Given the description of an element on the screen output the (x, y) to click on. 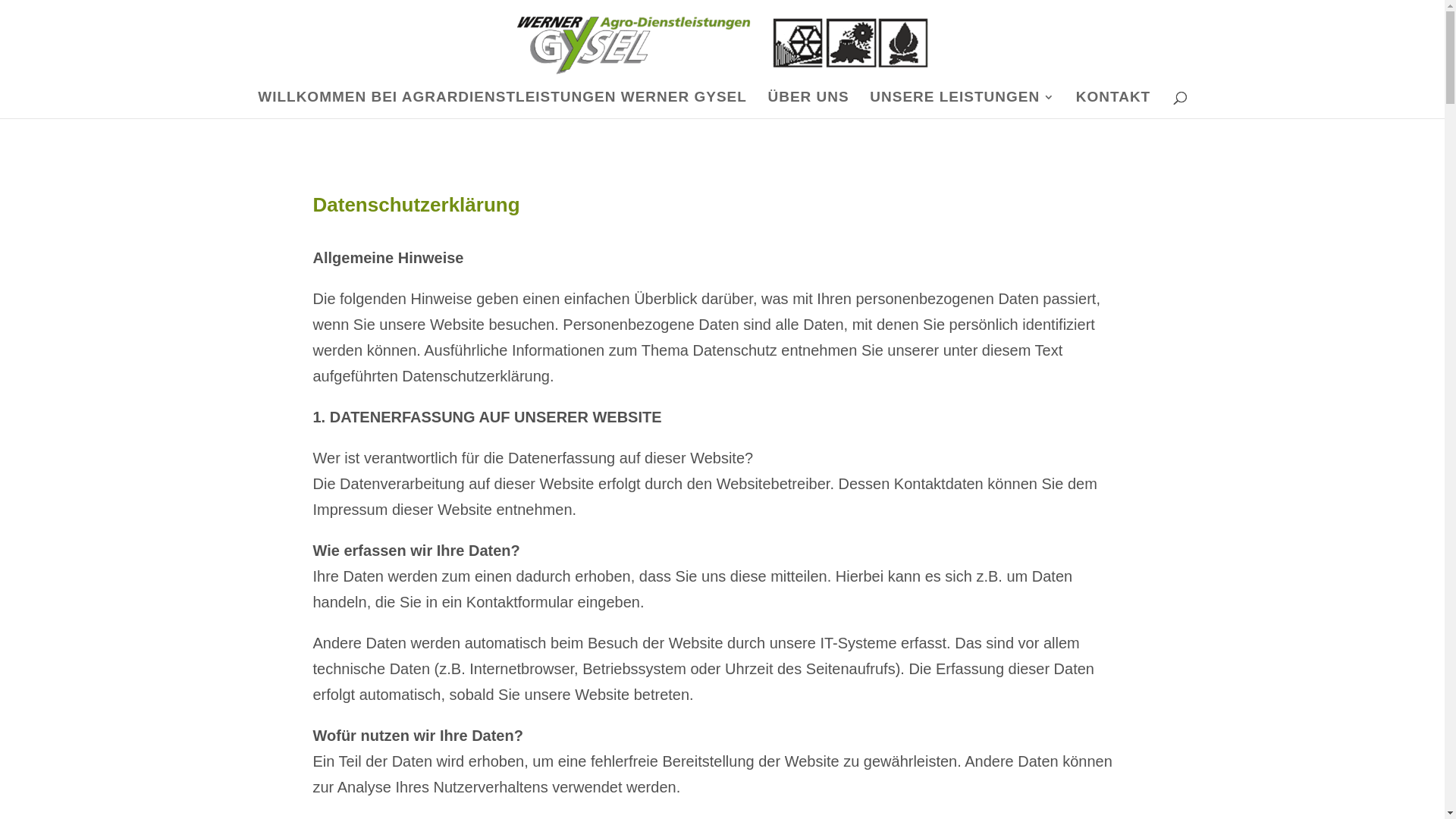
WILLKOMMEN BEI AGRARDIENSTLEISTUNGEN WERNER GYSEL Element type: text (501, 104)
KONTAKT Element type: text (1113, 104)
UNSERE LEISTUNGEN Element type: text (961, 104)
